Given the description of an element on the screen output the (x, y) to click on. 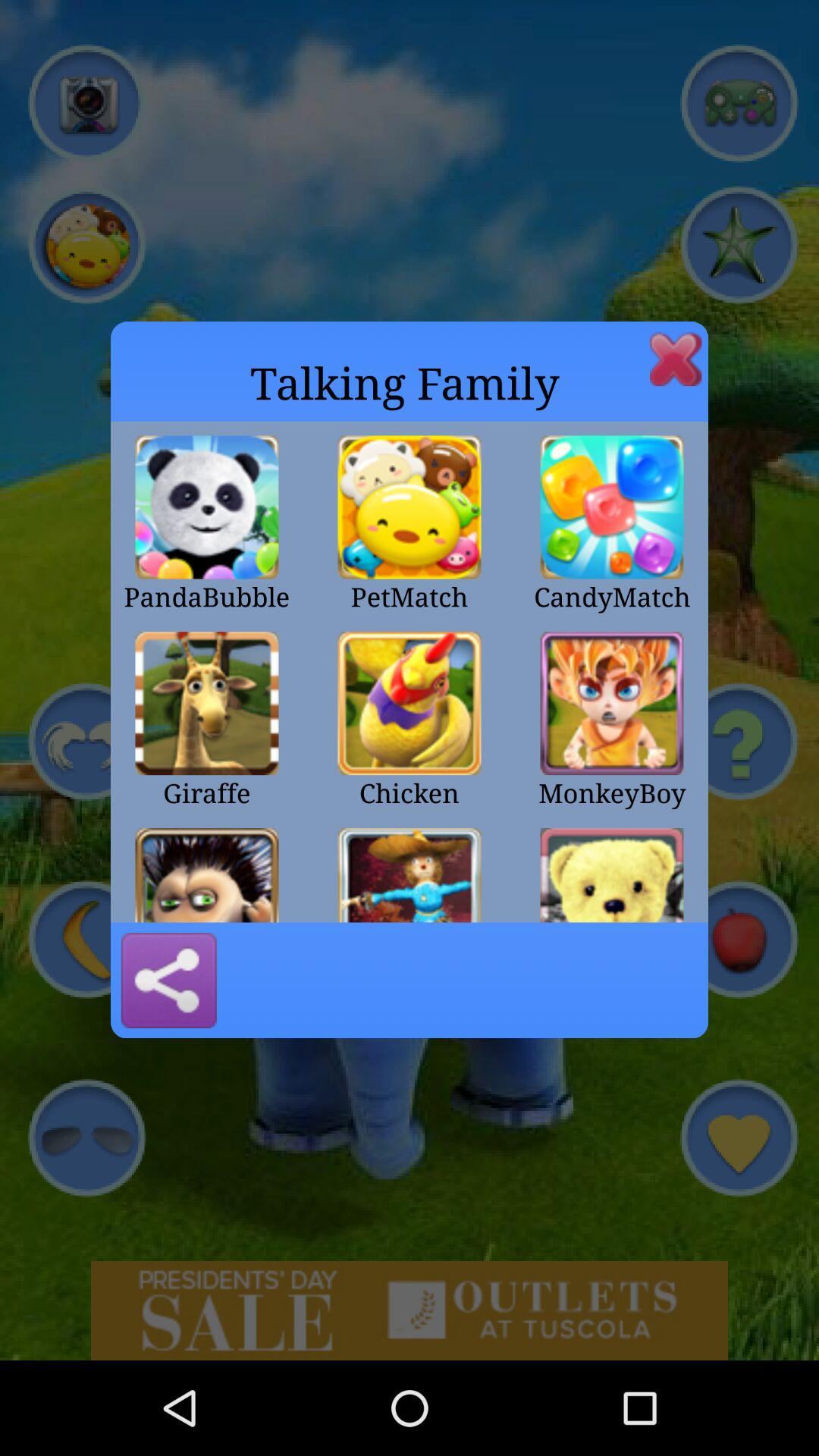
share the widget (168, 980)
